Given the description of an element on the screen output the (x, y) to click on. 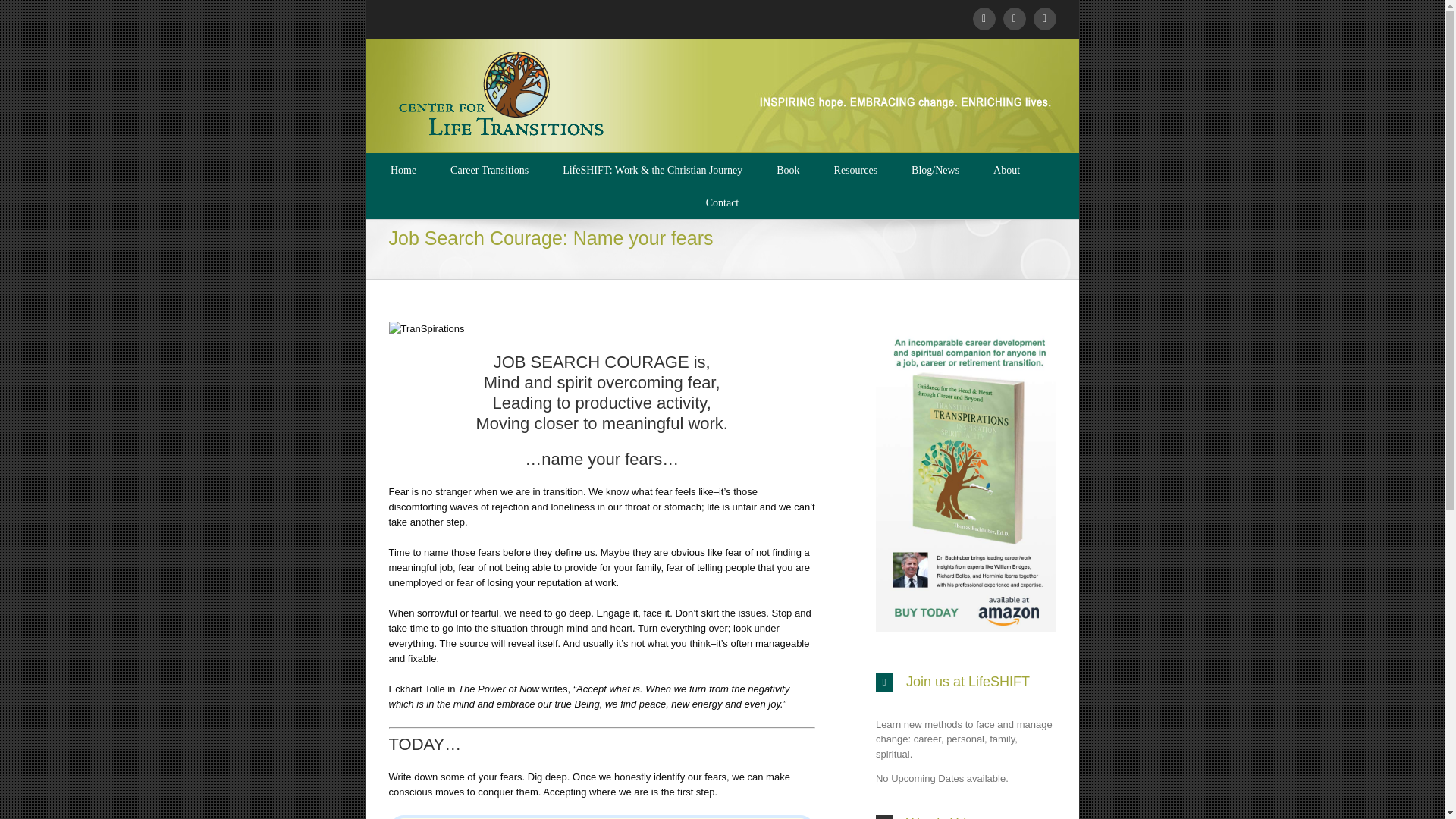
Resources (855, 169)
twitter (1014, 18)
facebook (983, 18)
twitter (1014, 18)
Book (787, 169)
facebook (983, 18)
linkedin (1043, 18)
Career Transitions (488, 169)
linkedin (1043, 18)
About (1006, 169)
Home (403, 169)
